Given the description of an element on the screen output the (x, y) to click on. 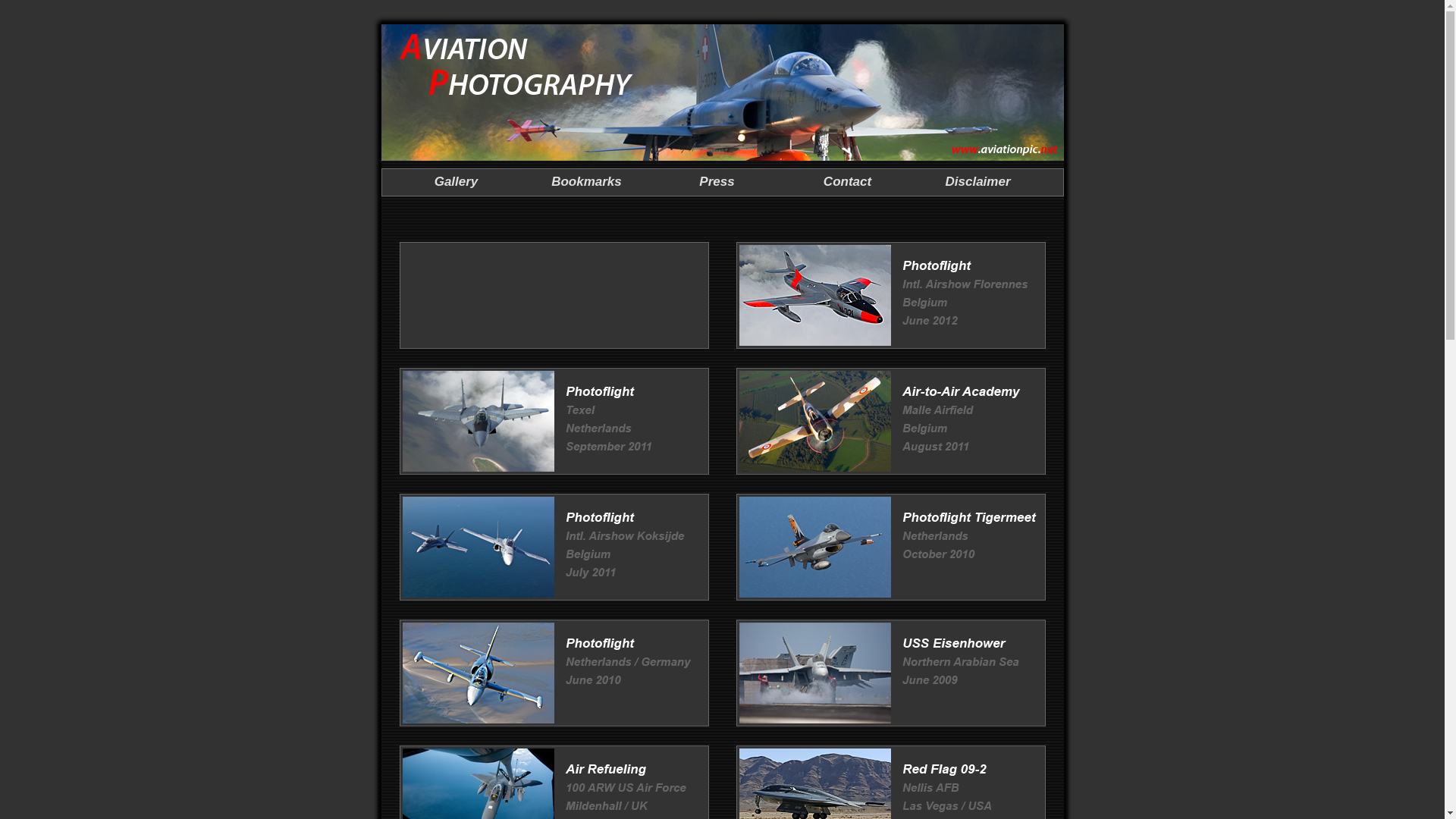
Bookmarks Element type: text (586, 181)
Gallery Element type: text (456, 181)
Contact Element type: text (847, 181)
Disclaimer Element type: text (977, 181)
Press Element type: text (716, 181)
